Given the description of an element on the screen output the (x, y) to click on. 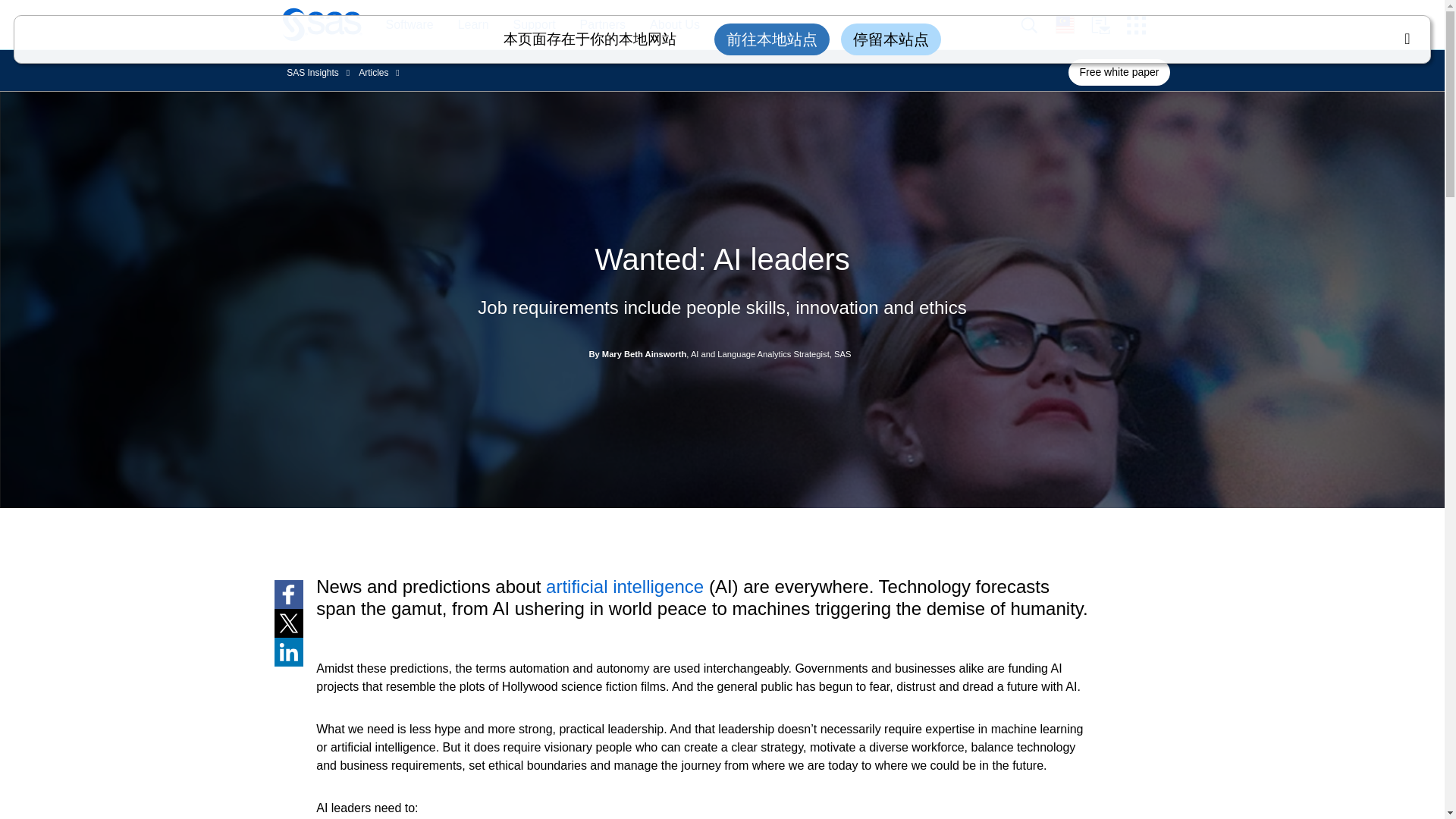
Facebook (288, 594)
LinkedIn (288, 652)
About Us (667, 24)
About Us (674, 24)
LinkedIn (288, 652)
Twitter (288, 623)
Contact Us (1108, 25)
Support (534, 24)
Twitter (288, 623)
Facebook (288, 594)
